Given the description of an element on the screen output the (x, y) to click on. 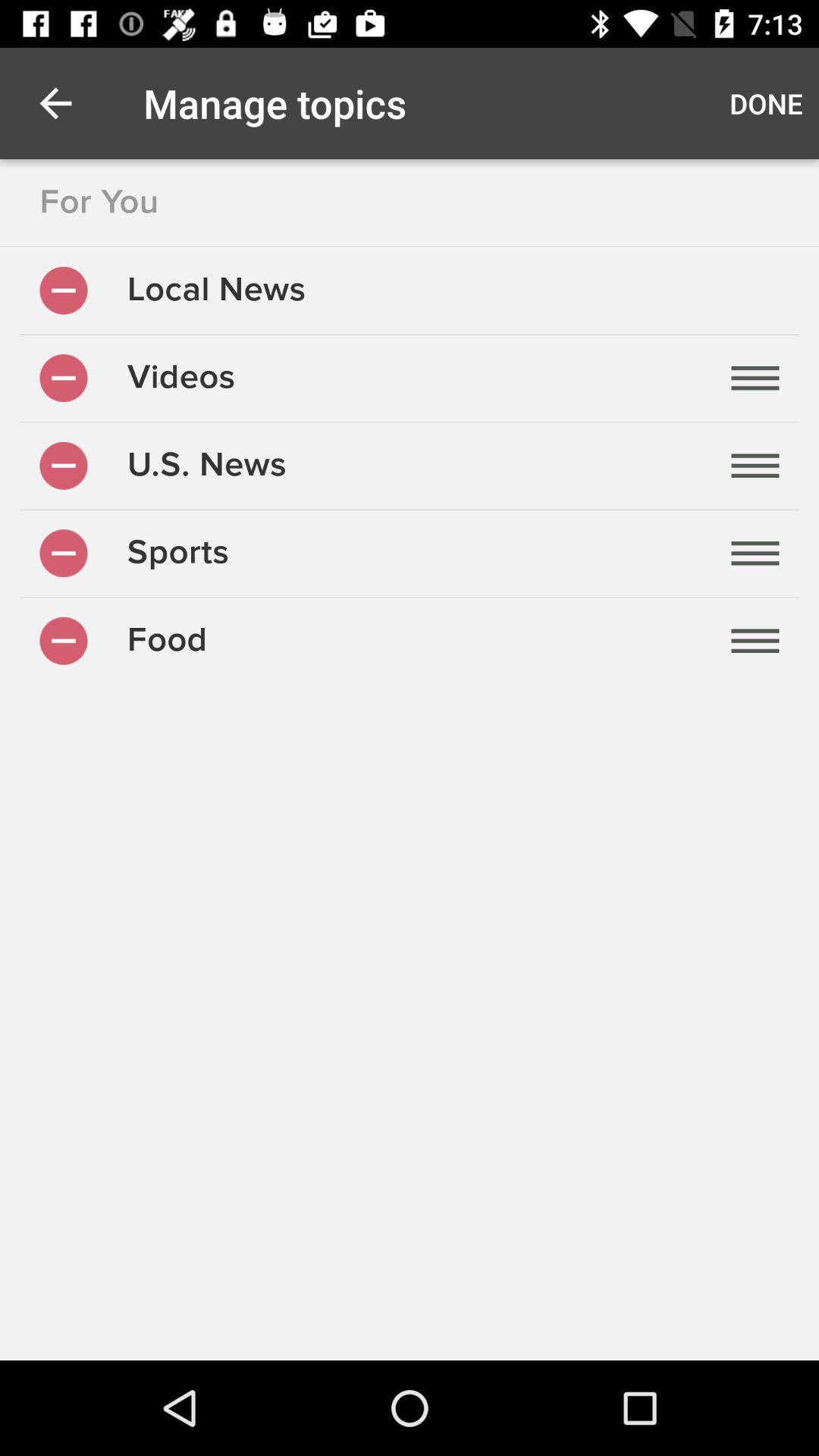
select the item next to the manage topics icon (55, 103)
